Given the description of an element on the screen output the (x, y) to click on. 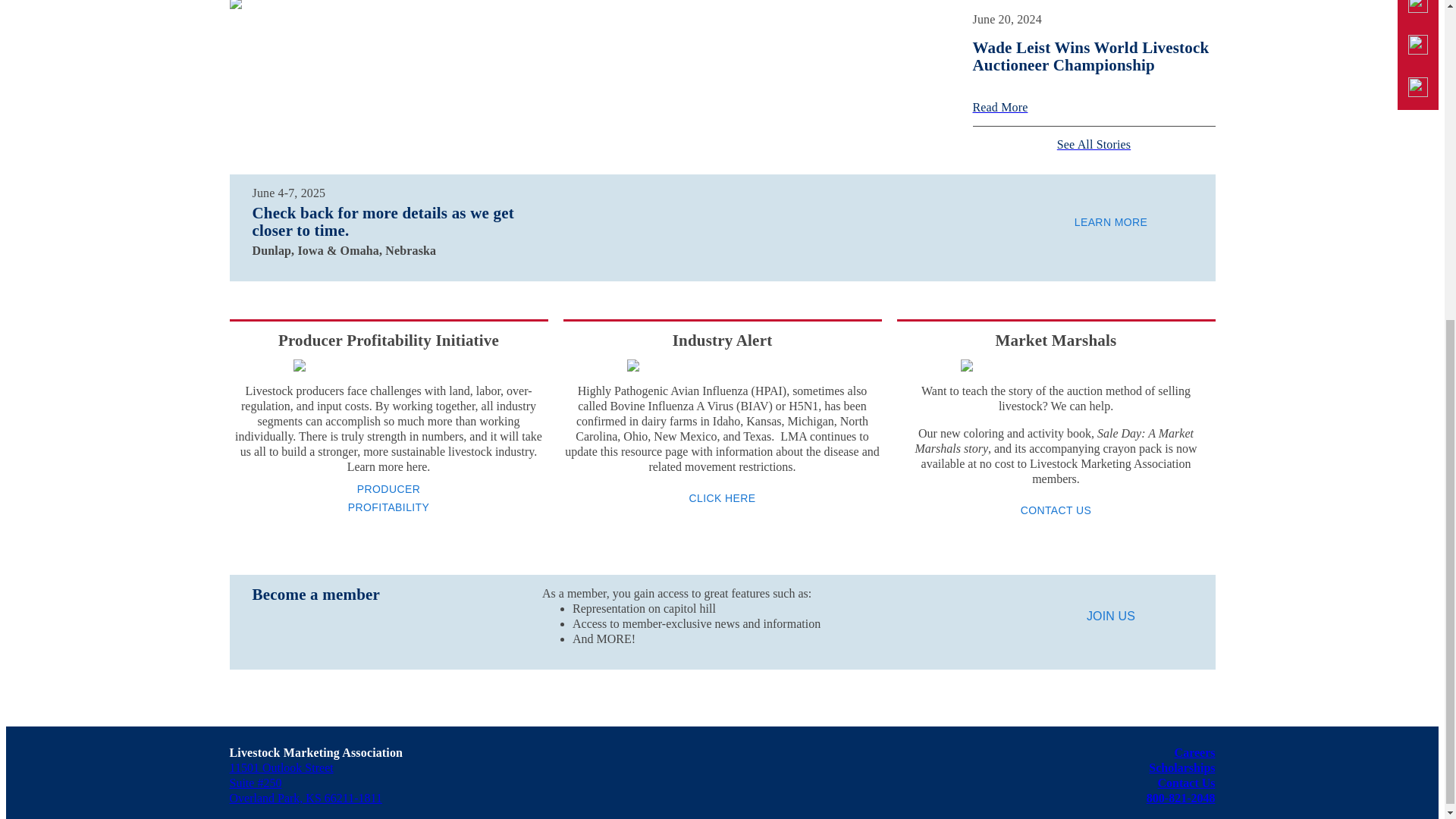
CONTACT US (1056, 509)
See All Stories (1094, 144)
CLICK HERE (722, 497)
800-821-2048 (1181, 797)
11501 Outlook Street (280, 767)
Read More (1093, 107)
Contact Us (1185, 782)
JOIN US (1110, 616)
Scholarships (1181, 767)
Overland Park, KS 66211-1811 (304, 797)
Careers (1194, 752)
PRODUCER PROFITABILITY (388, 497)
LEARN MORE (1110, 221)
